Given the description of an element on the screen output the (x, y) to click on. 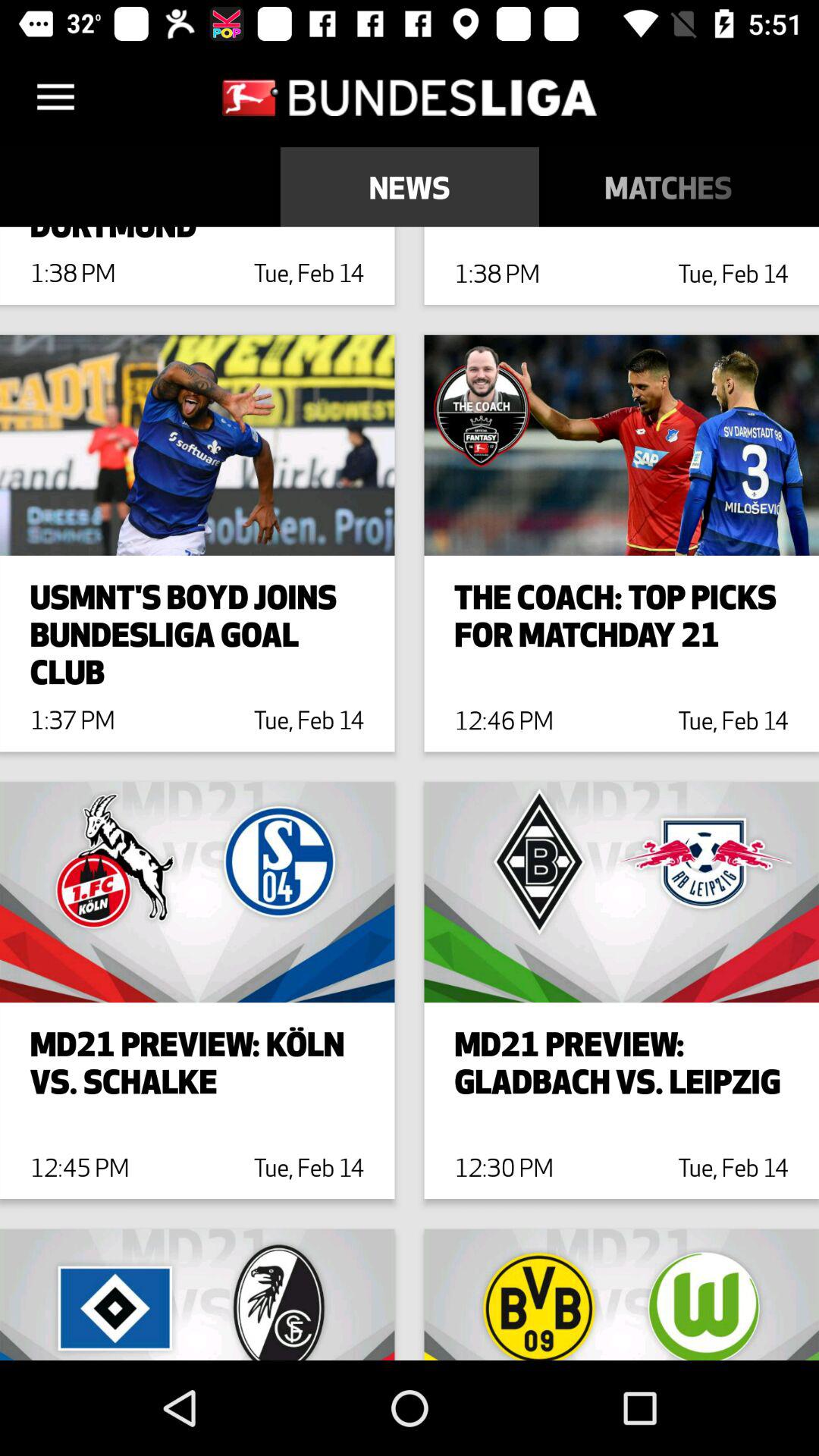
select item to the right of news item (668, 186)
